Given the description of an element on the screen output the (x, y) to click on. 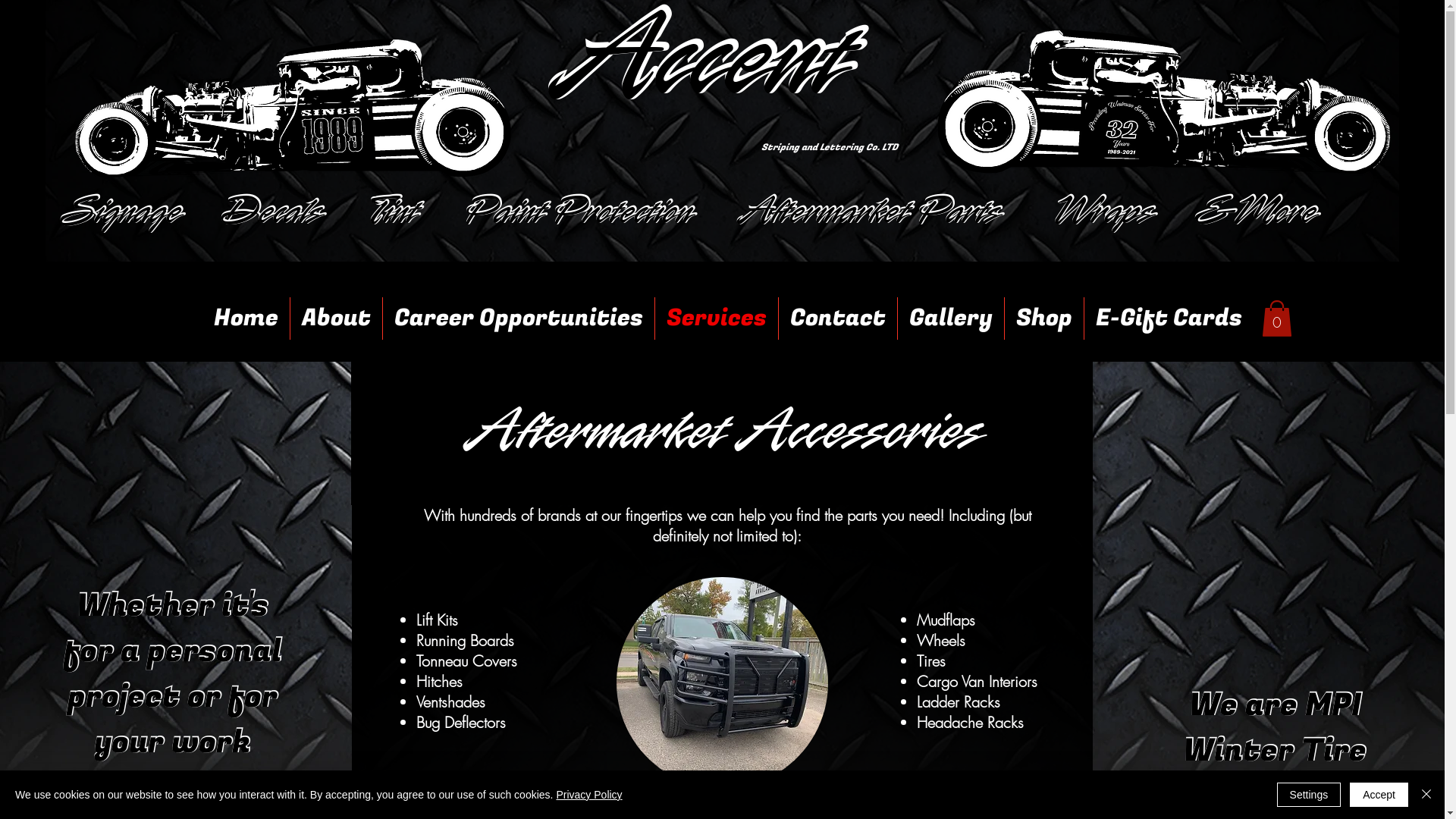
Services Element type: text (716, 318)
Settings Element type: text (1309, 794)
Gallery Element type: text (950, 318)
E-Gift Cards Element type: text (1168, 318)
0 Element type: text (1276, 318)
Home Element type: text (245, 318)
Career Opportunities Element type: text (518, 318)
Shop Element type: text (1043, 318)
About Element type: text (336, 318)
Contact Element type: text (837, 318)
Accept Element type: text (1378, 794)
Privacy Policy Element type: text (588, 794)
